Given the description of an element on the screen output the (x, y) to click on. 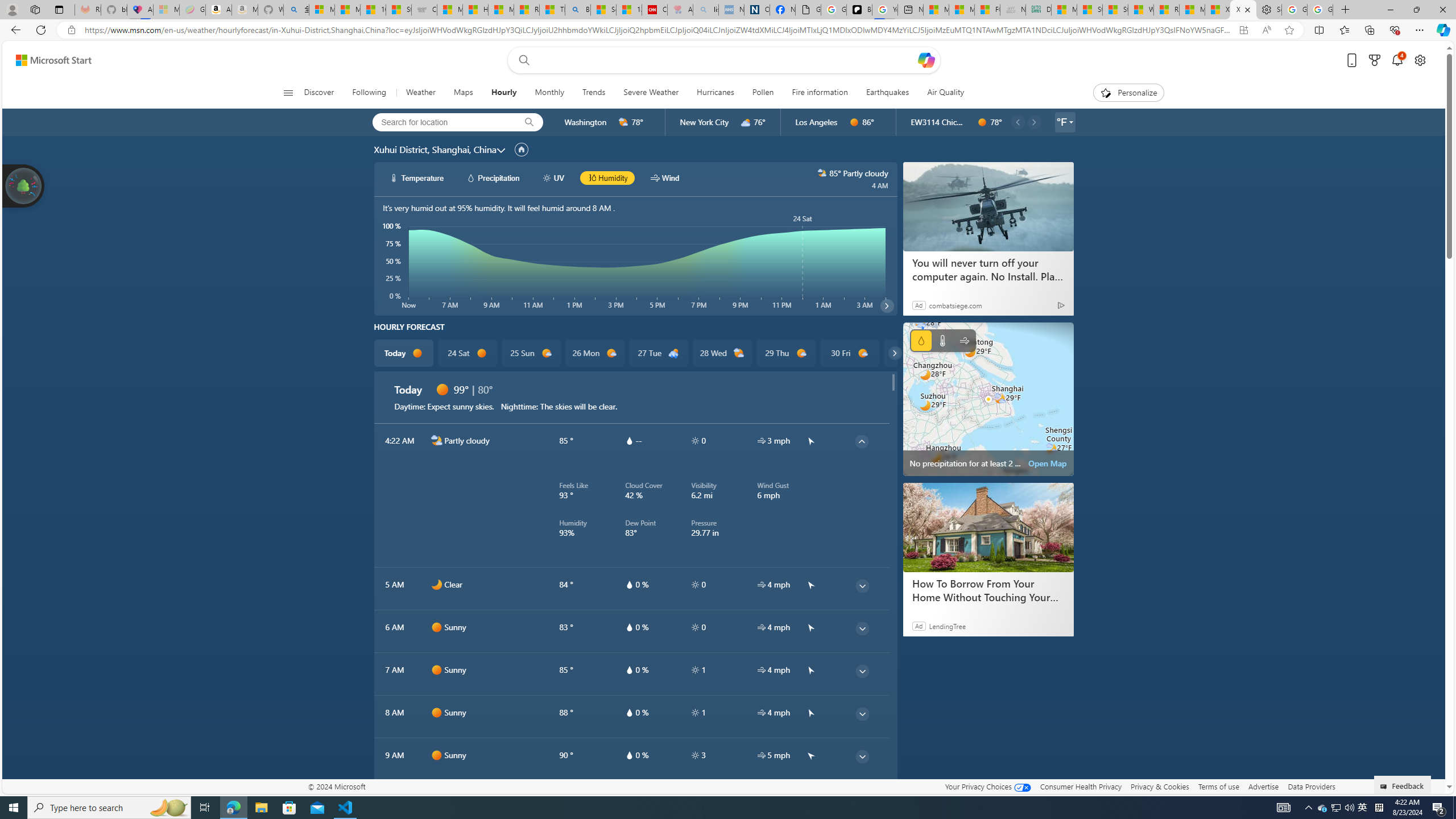
Trends (593, 92)
Air Quality (940, 92)
Severe Weather (650, 92)
hourlyChart/humidityBlack (591, 177)
locationName/setHomeLocation (520, 149)
